Given the description of an element on the screen output the (x, y) to click on. 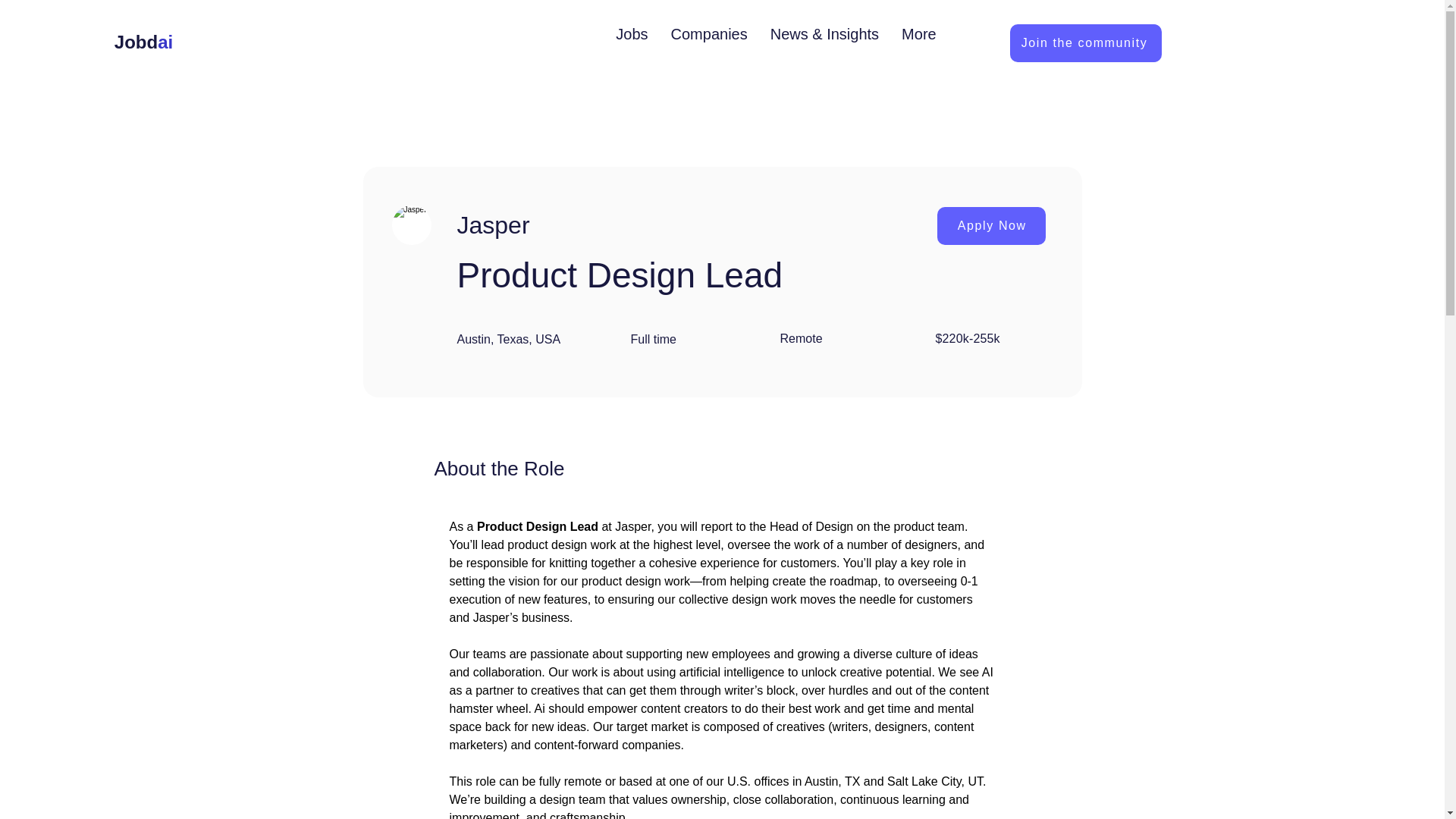
Apply Now (991, 225)
Jasper (610, 224)
Jobdai (144, 41)
Jobs (631, 43)
Companies (708, 43)
Jasper Logo.jpeg (410, 224)
Join the community (1085, 43)
